Given the description of an element on the screen output the (x, y) to click on. 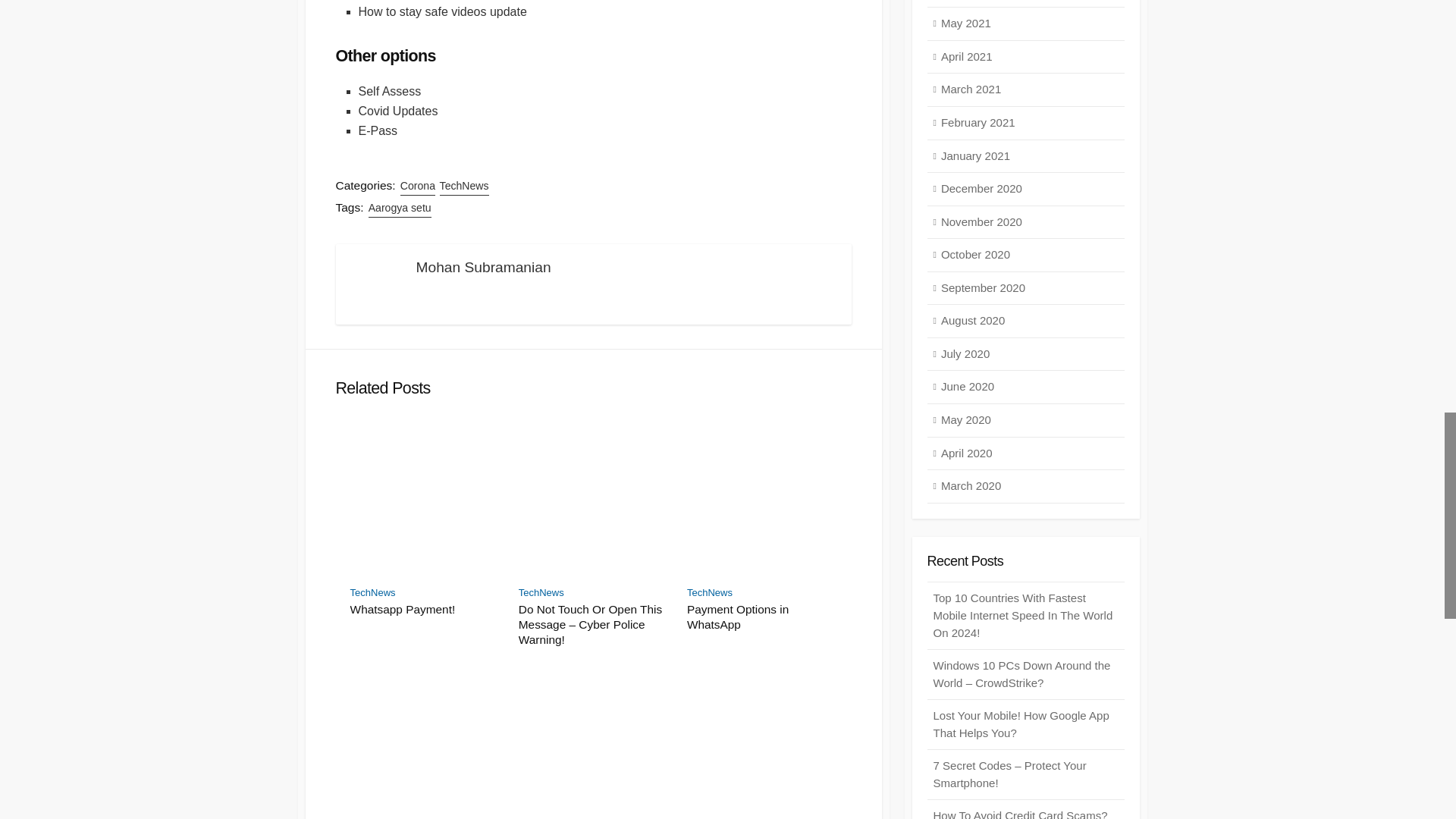
Payment Options in WhatsApp (762, 616)
Whatsapp Payment! (425, 609)
TechNews (373, 592)
TechNews (464, 185)
Aarogya setu (399, 208)
TechNews (709, 592)
Corona (417, 185)
TechNews (541, 592)
